Given the description of an element on the screen output the (x, y) to click on. 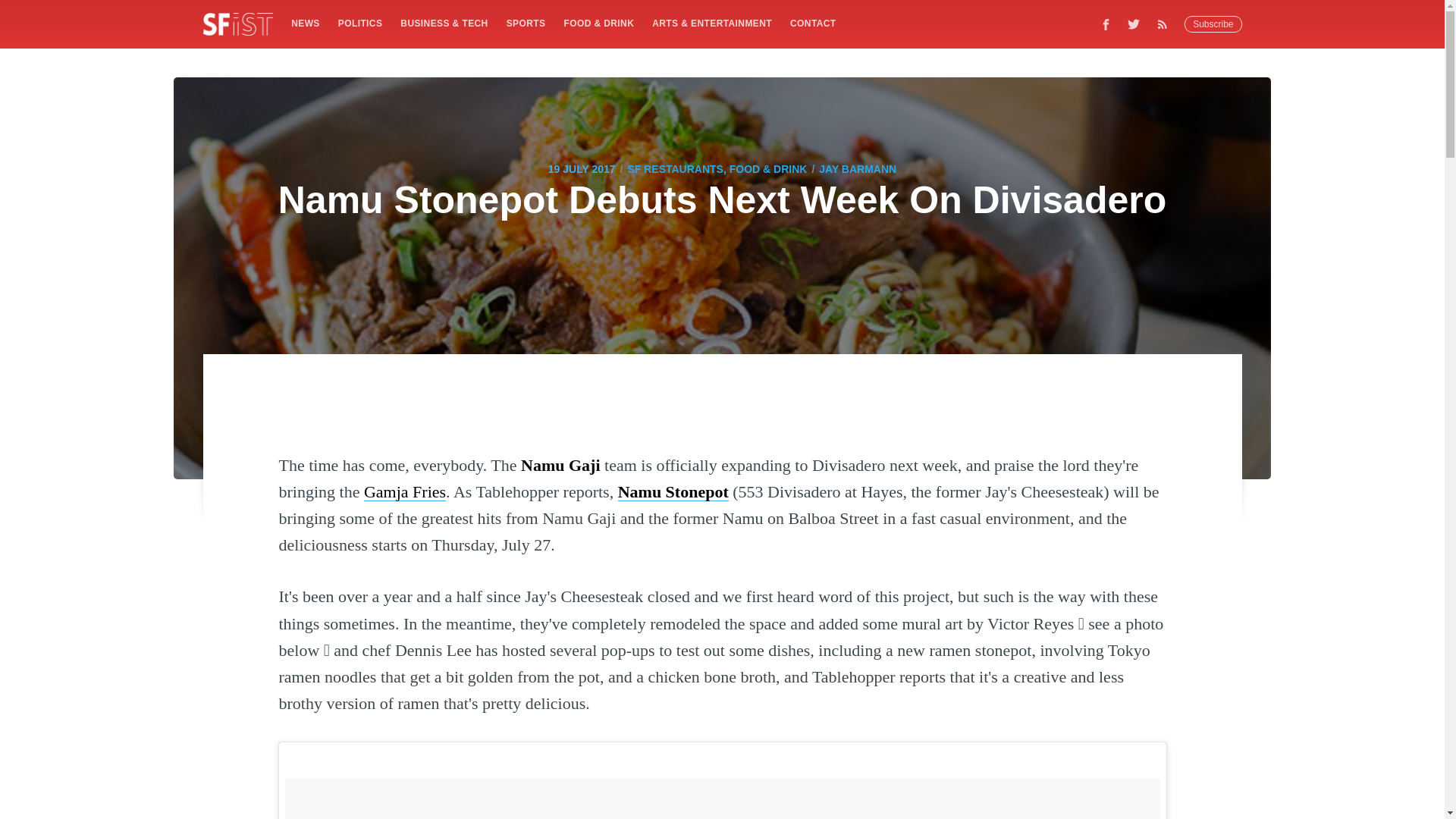
Twitter (1133, 23)
Namu Stonepot (673, 491)
Gamja Fries (404, 491)
Subscribe (1213, 23)
CONTACT (812, 23)
JAY BARMANN (857, 168)
Facebook (1106, 23)
NEWS (305, 23)
SPORTS (525, 23)
POLITICS (360, 23)
RSS (1166, 23)
